Given the description of an element on the screen output the (x, y) to click on. 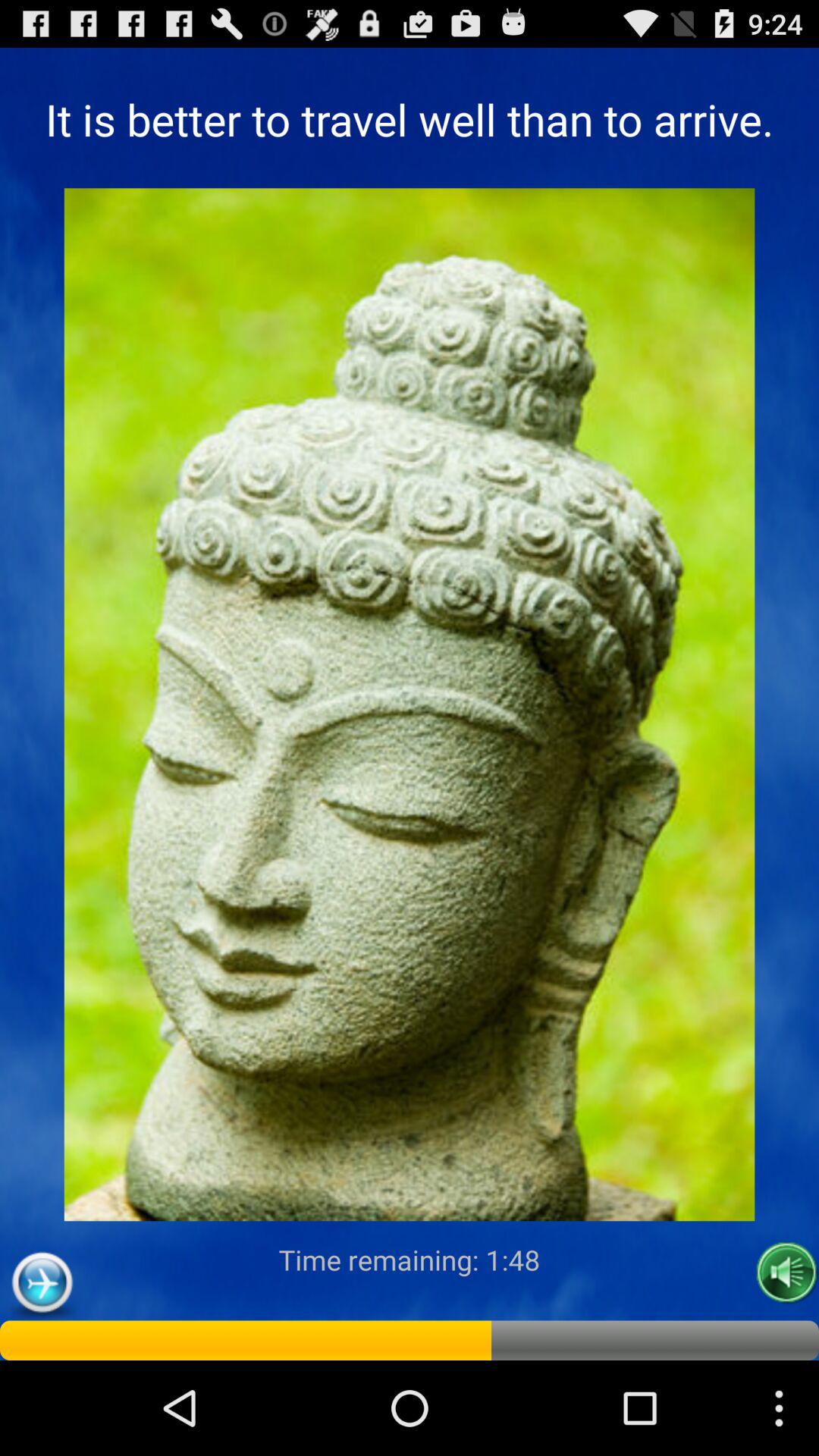
choose the item at the bottom left corner (42, 1283)
